Given the description of an element on the screen output the (x, y) to click on. 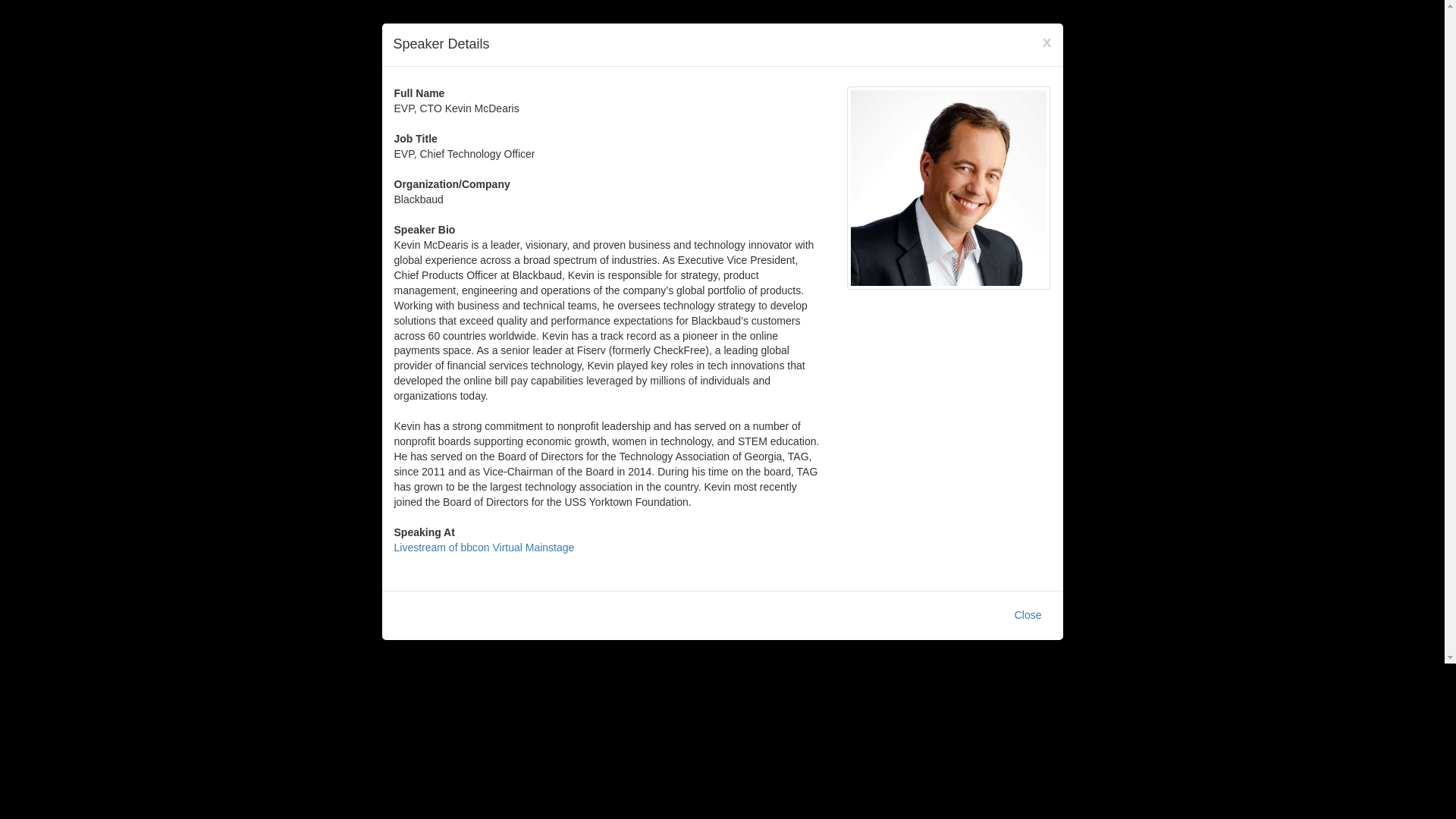
Session Details (484, 547)
Livestream of bbcon Virtual Mainstage (484, 547)
Close (1027, 615)
